Given the description of an element on the screen output the (x, y) to click on. 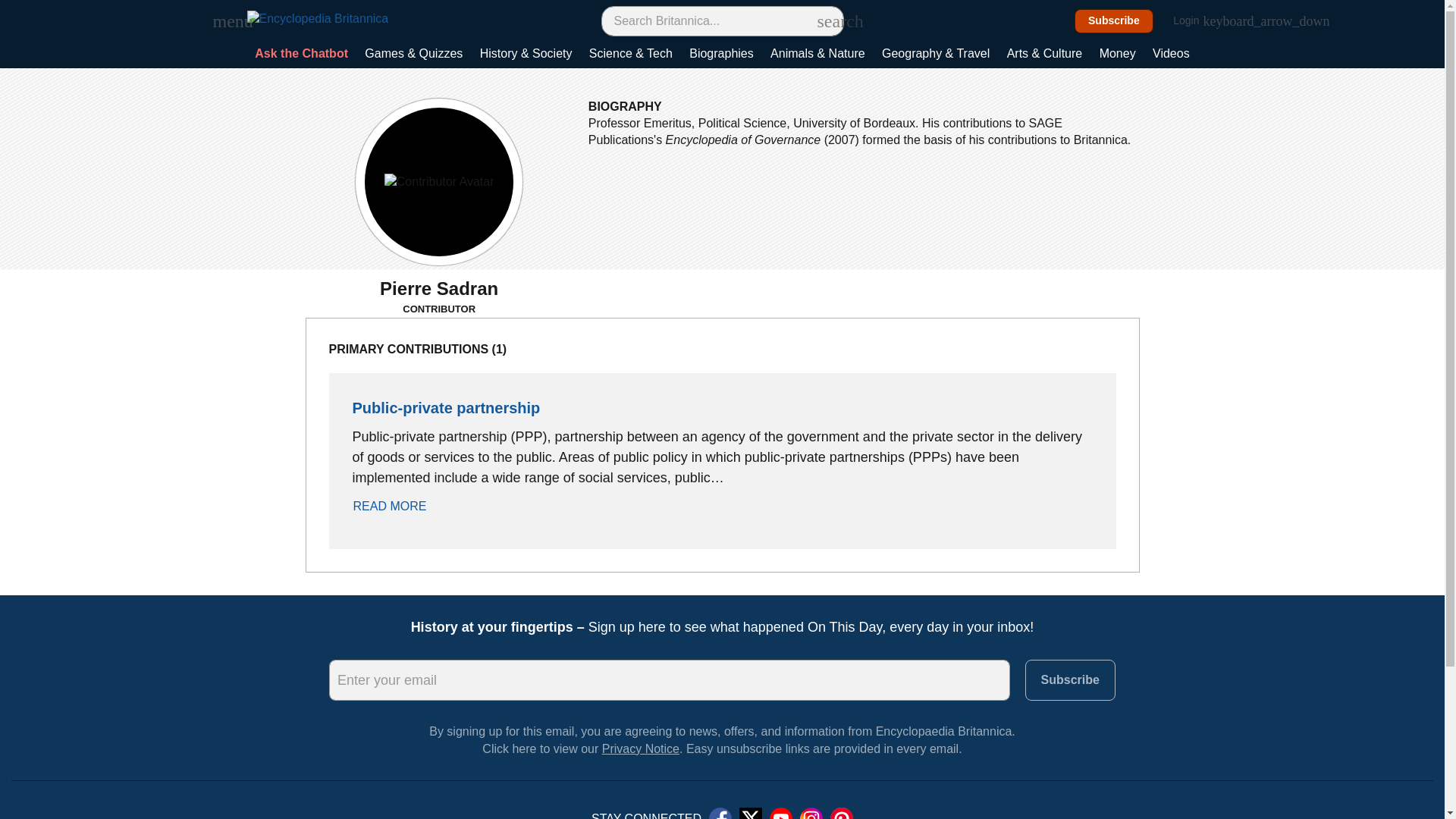
Subscribe (1114, 21)
Click here to search (825, 20)
Login (1194, 20)
